Given the description of an element on the screen output the (x, y) to click on. 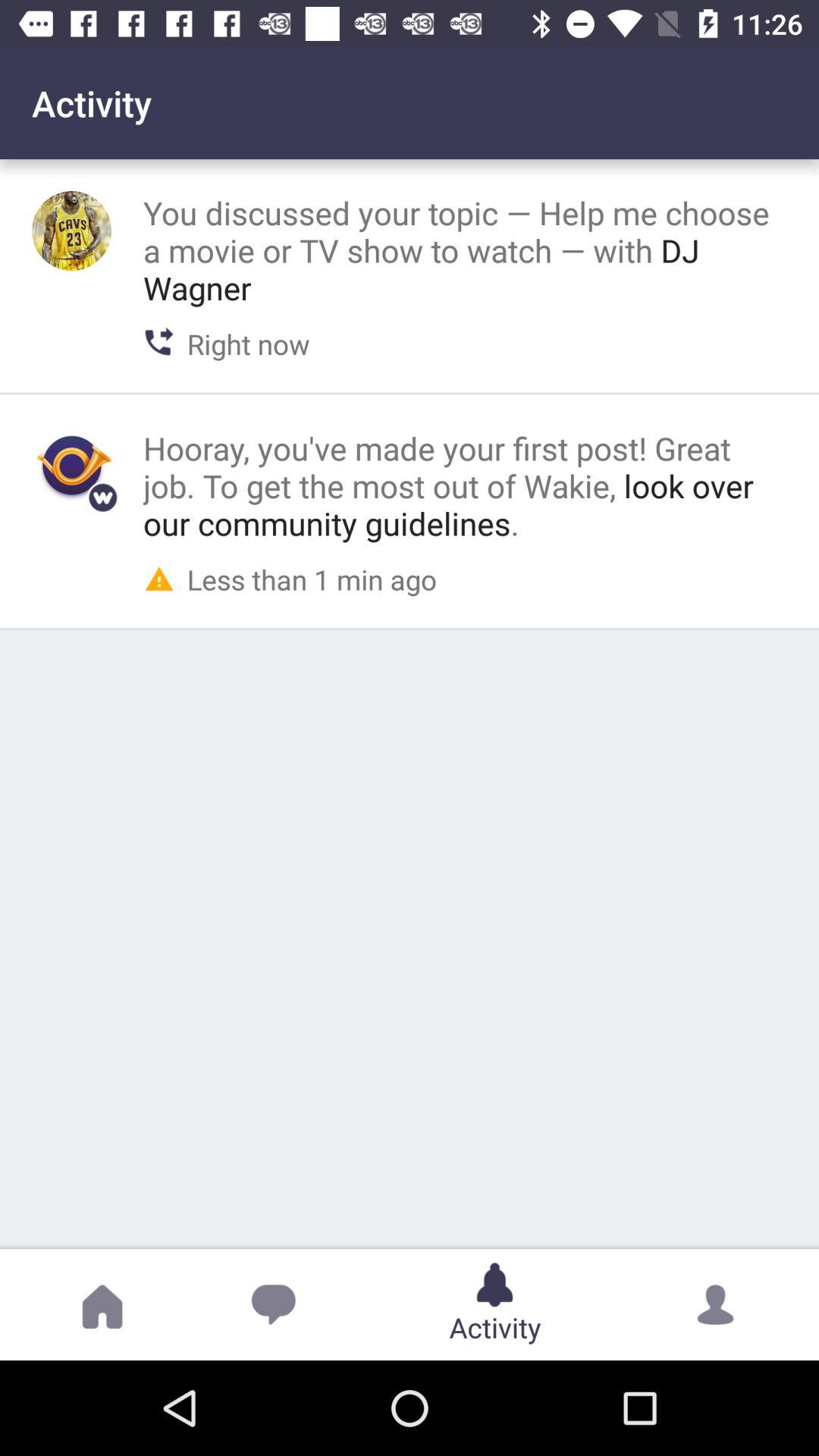
see profile page (71, 466)
